Given the description of an element on the screen output the (x, y) to click on. 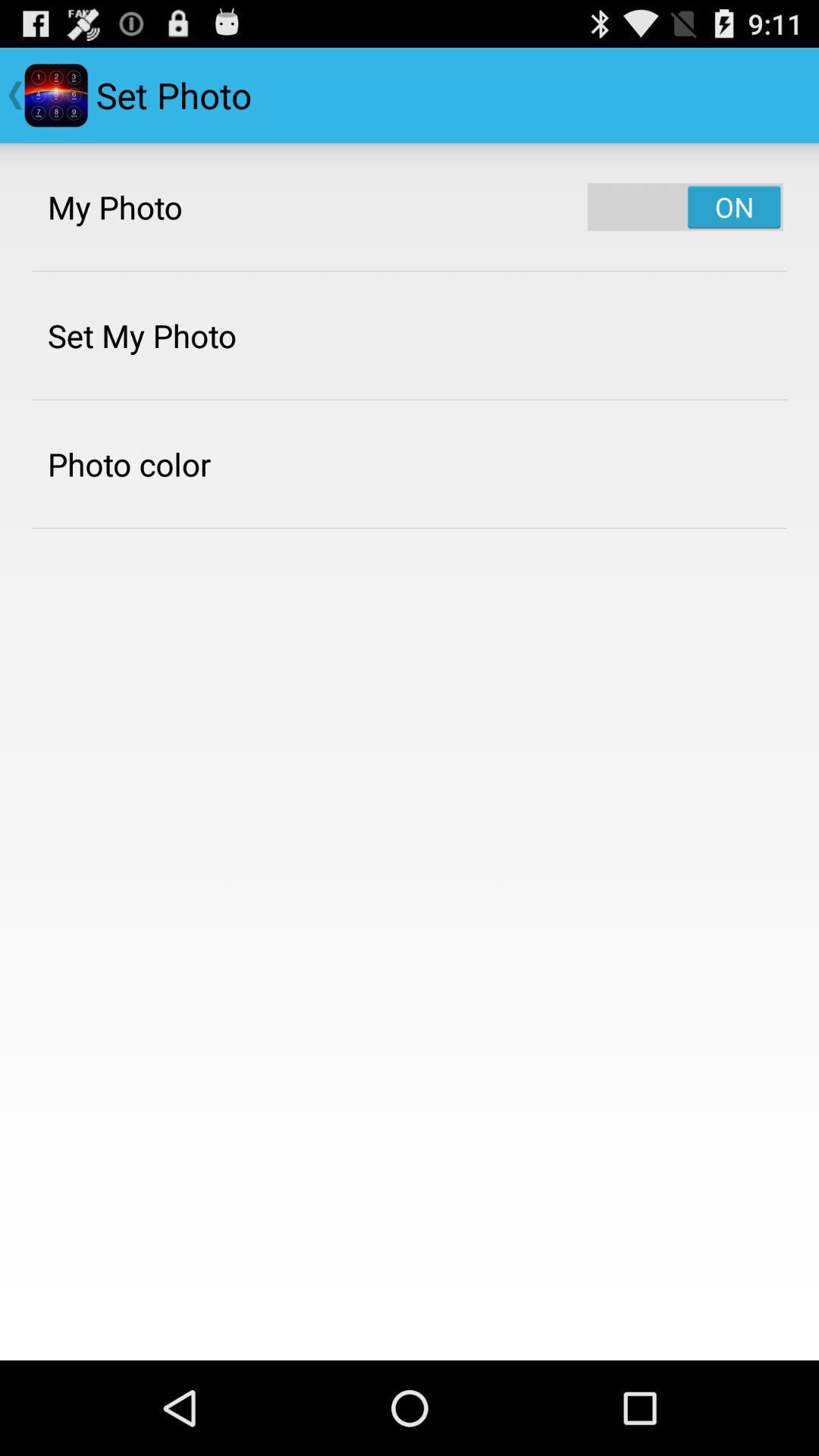
turn off item below the set my photo app (129, 463)
